Given the description of an element on the screen output the (x, y) to click on. 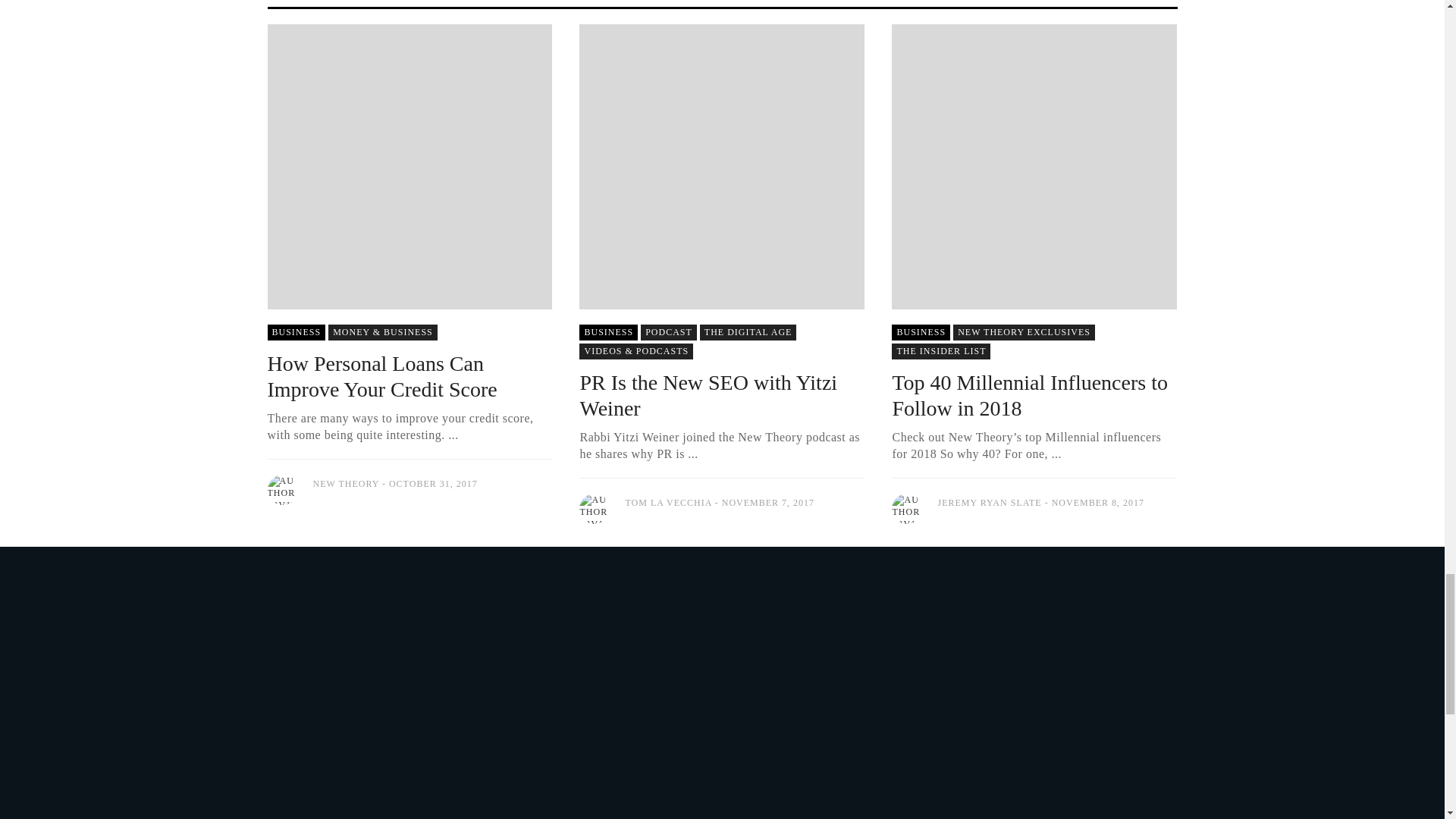
View all posts in 3847 (668, 332)
View all posts in 144 (383, 332)
View all posts in 3845 (920, 332)
View all posts in 3845 (295, 332)
View all posts in 3034 (940, 351)
View all posts in 152 (748, 332)
View all posts in 922 (636, 351)
View all posts in 3845 (608, 332)
View all posts in 923 (1023, 332)
